Given the description of an element on the screen output the (x, y) to click on. 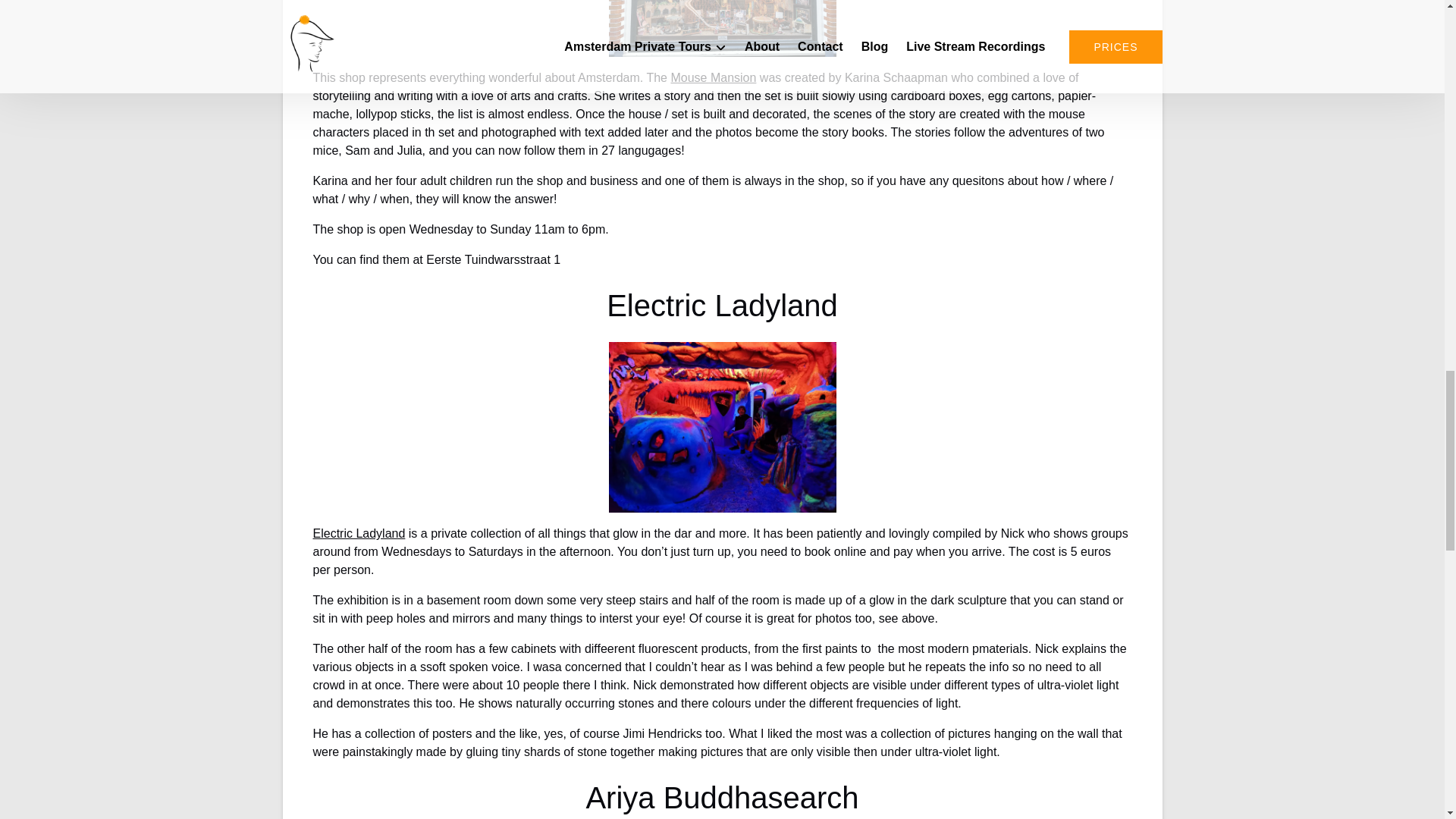
Electric Ladyland (358, 533)
Mouse Mansion (712, 77)
